Given the description of an element on the screen output the (x, y) to click on. 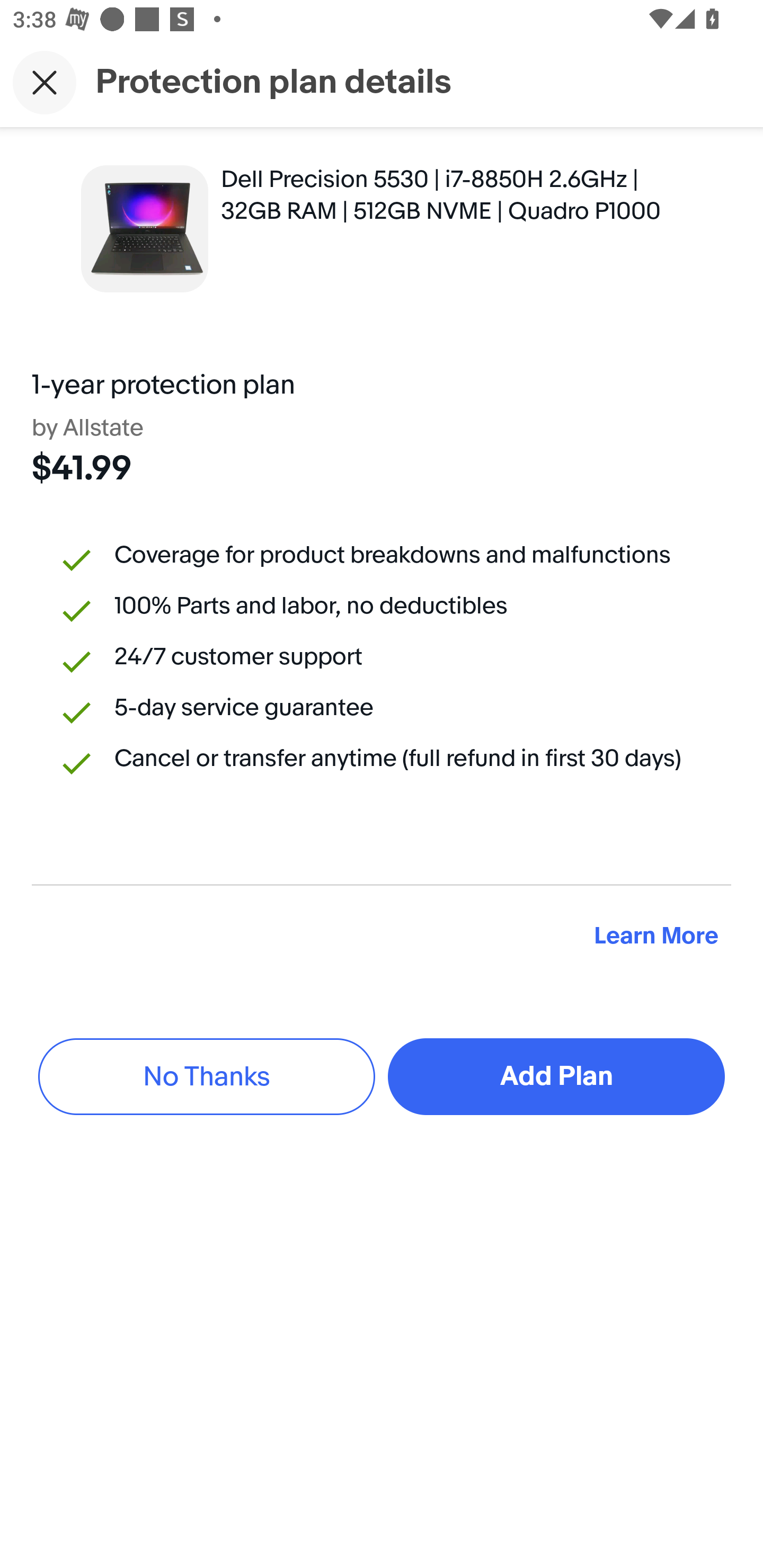
Close (44, 82)
Learn More Learn more about Protection Plan (655, 936)
Add Plan (555, 1076)
